Given the description of an element on the screen output the (x, y) to click on. 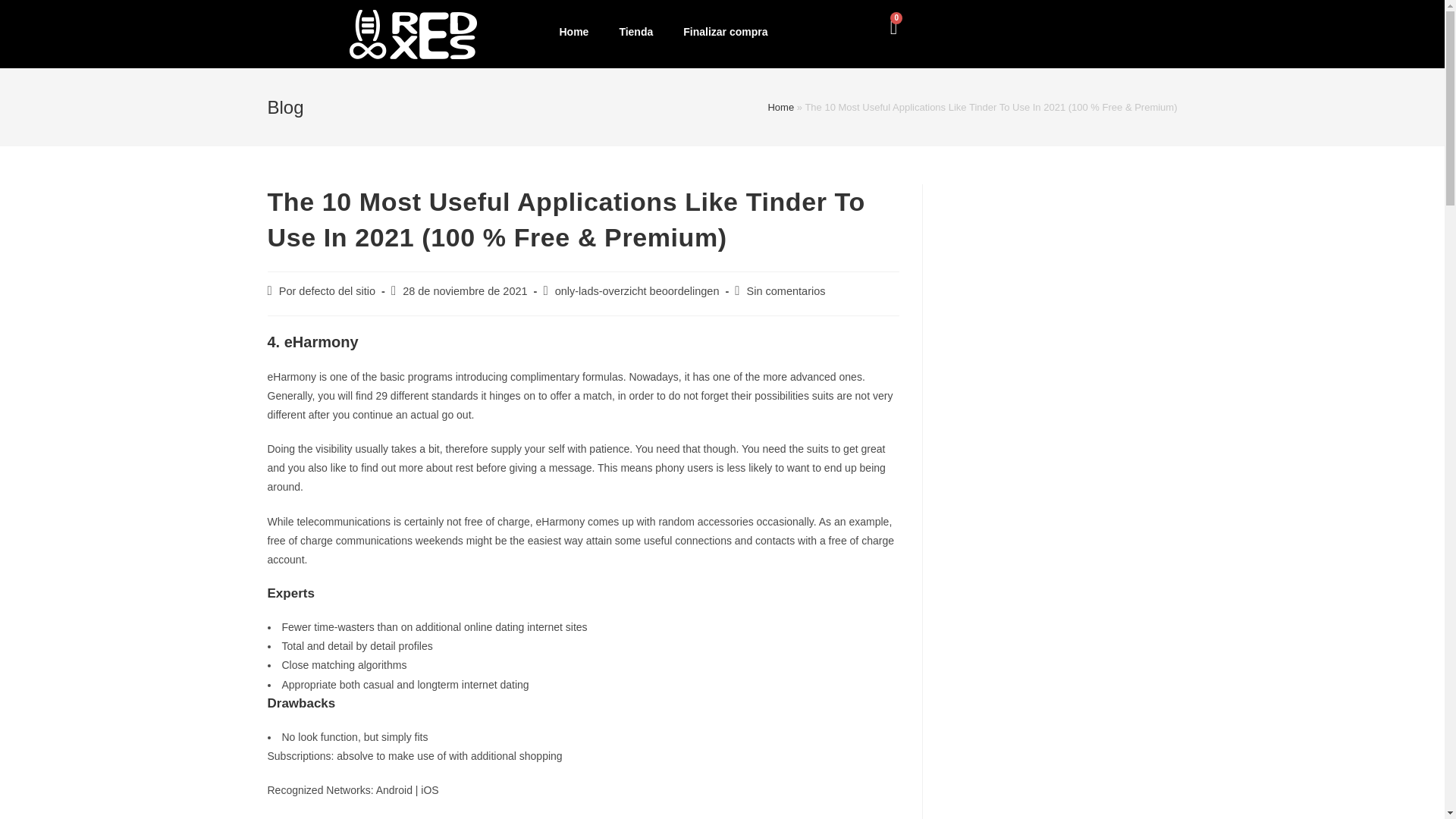
only-lads-overzicht beoordelingen (636, 291)
Por defecto del sitio (327, 291)
Sin comentarios (785, 291)
Tienda (636, 31)
Home (573, 31)
0 (893, 27)
Finalizar compra (725, 31)
Entradas de Por defecto del sitio (327, 291)
Home (780, 107)
